Given the description of an element on the screen output the (x, y) to click on. 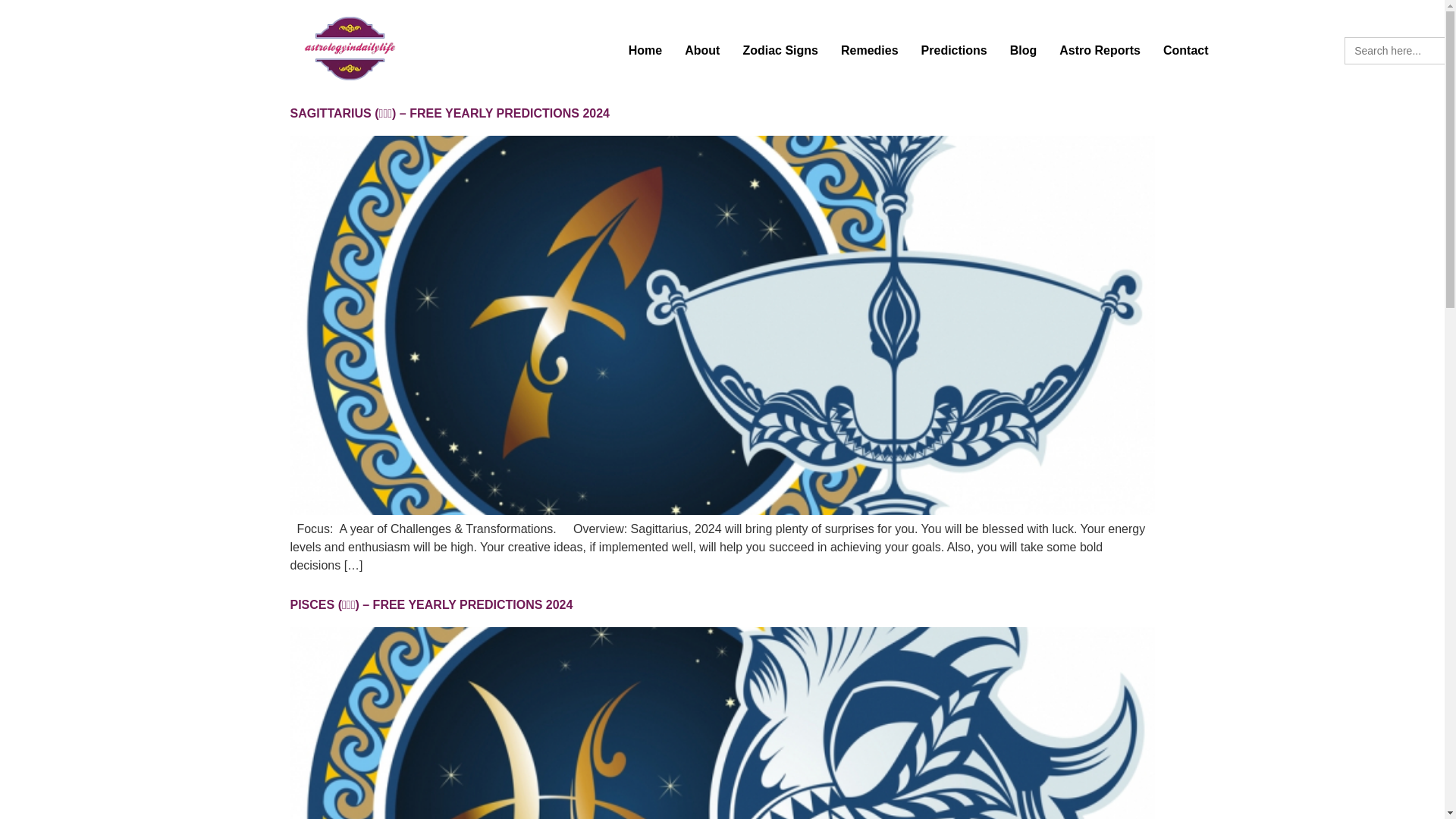
Blog (1023, 50)
Zodiac Signs (779, 50)
Home (644, 50)
Astro Reports (1099, 50)
Contact (1185, 50)
Predictions (954, 50)
Remedies (869, 50)
About (701, 50)
